Given the description of an element on the screen output the (x, y) to click on. 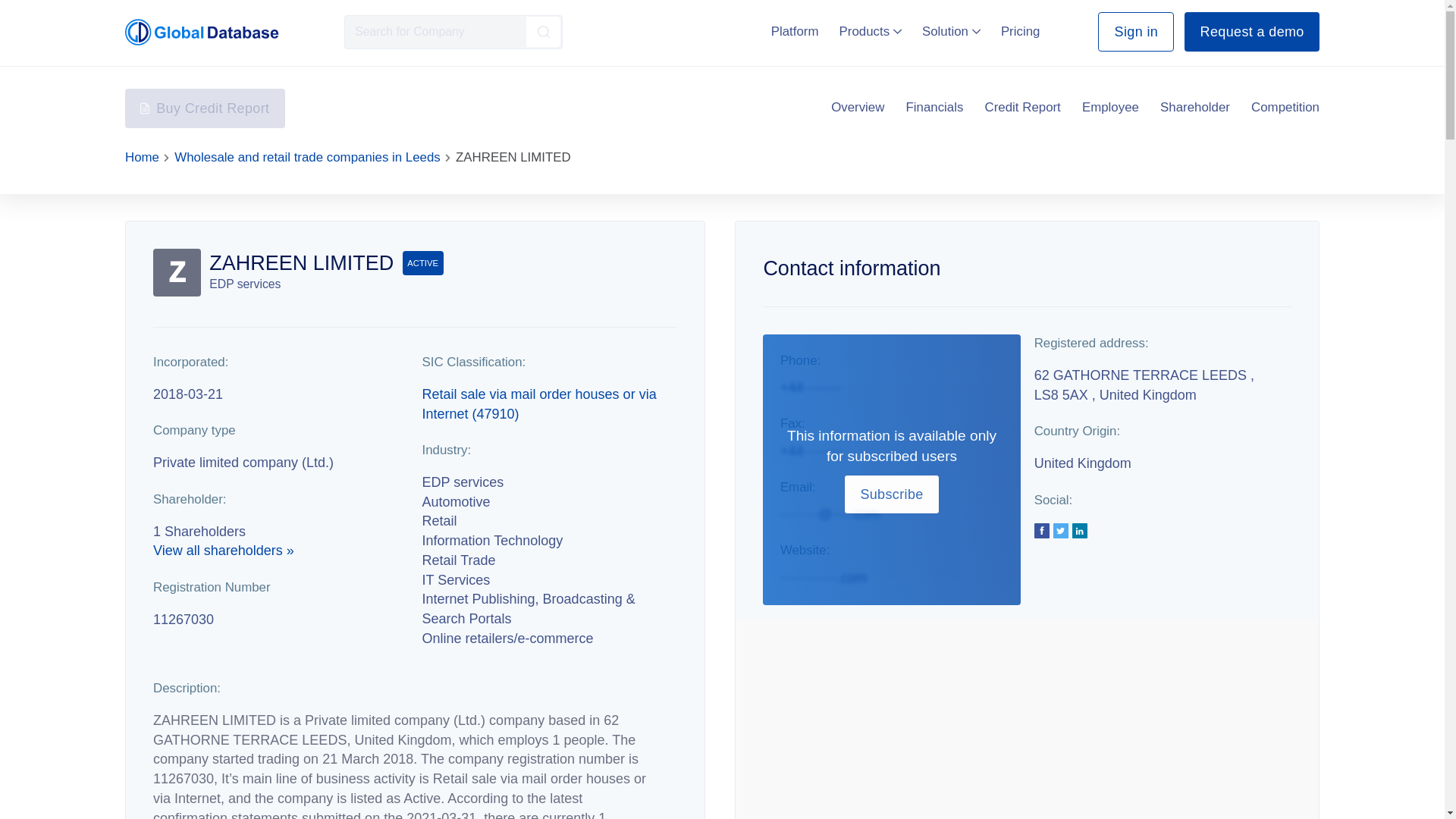
Shareholder (1195, 107)
Financials (934, 107)
Sign in (1135, 31)
Buy Credit Report (205, 107)
Credit Report (1023, 107)
Pricing (1021, 31)
Request a demo (1252, 31)
Employee (1109, 107)
Platform (794, 31)
Overview (857, 107)
